Given the description of an element on the screen output the (x, y) to click on. 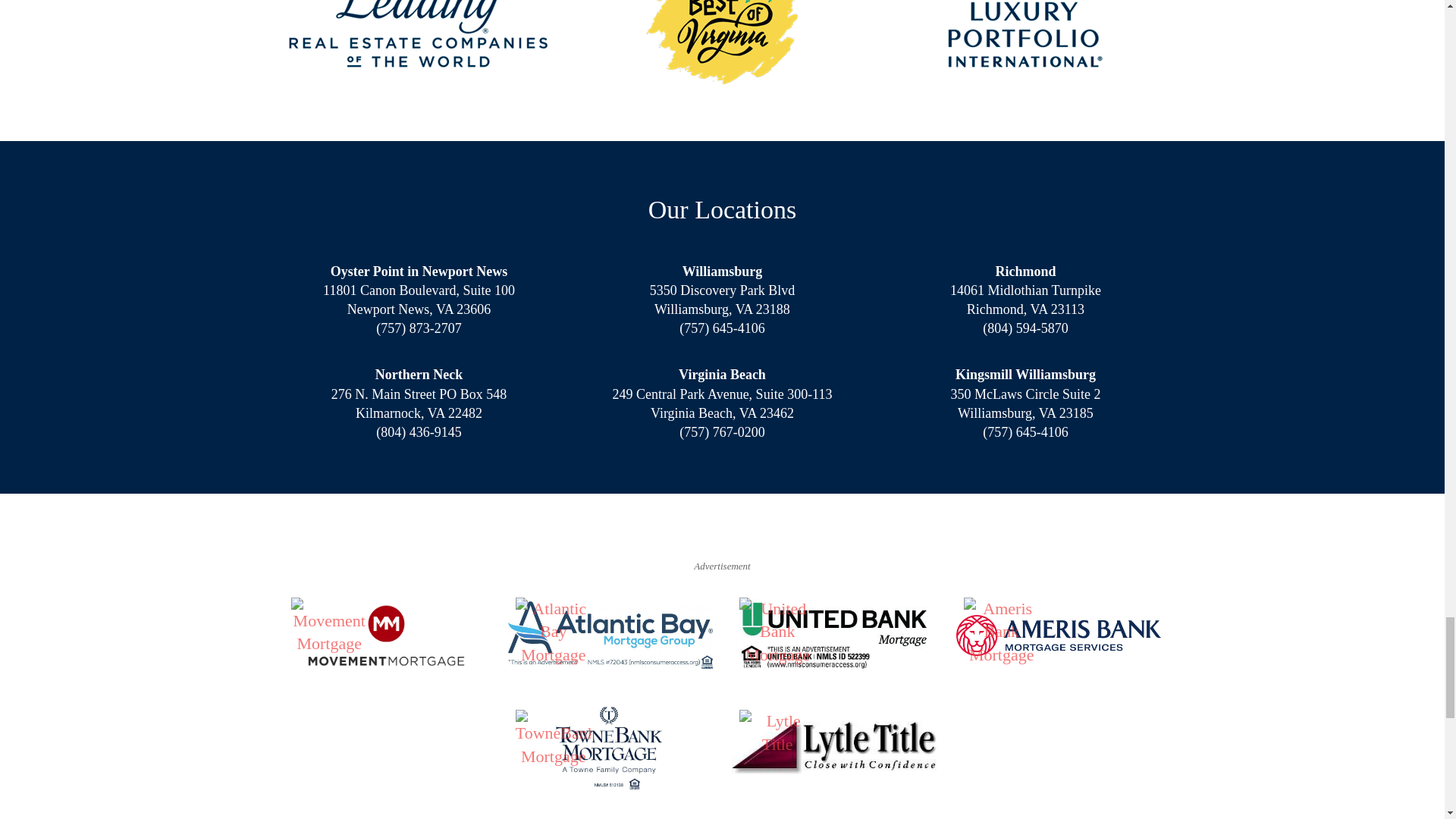
Open link in new window. (385, 634)
Open link in new window. (834, 634)
Open link in new window. (610, 747)
Open link in new window. (834, 747)
Open link in new window. (610, 634)
Open link in new window. (1058, 634)
